Given the description of an element on the screen output the (x, y) to click on. 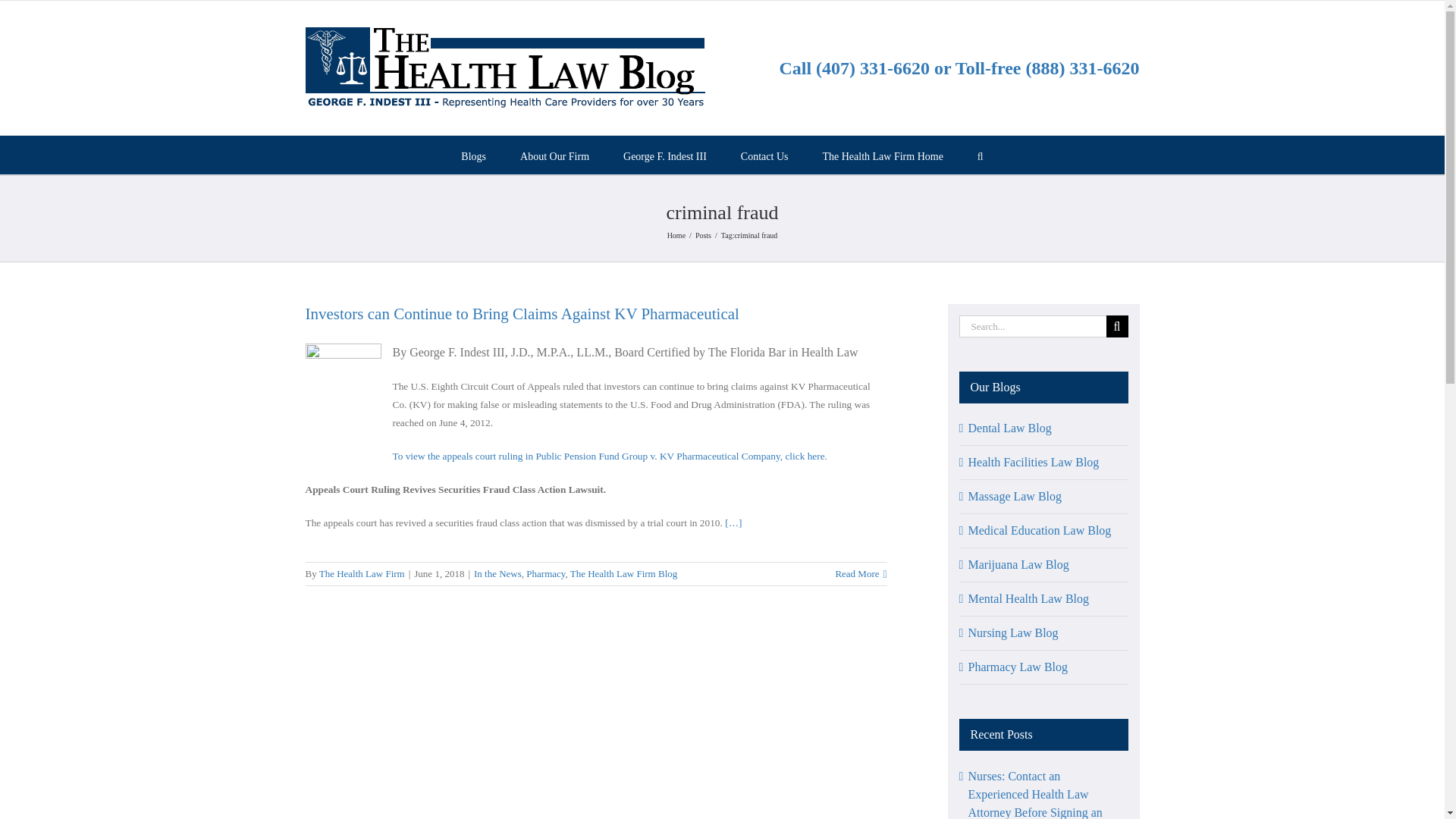
About Our Firm (554, 154)
Read More (856, 573)
Health Facilities Law Blog (1033, 461)
The Health Law Firm Home (882, 154)
The Health Law Firm Blog (624, 573)
Massage Law Blog (1014, 495)
Mental Health Law Blog (1028, 598)
The Health Law Firm (361, 573)
Nursing Law Blog (1013, 632)
Home (675, 234)
Medical Education Law Blog (1039, 530)
Dental Law Blog (1009, 427)
George F. Indest III (664, 154)
In the News (497, 573)
